Given the description of an element on the screen output the (x, y) to click on. 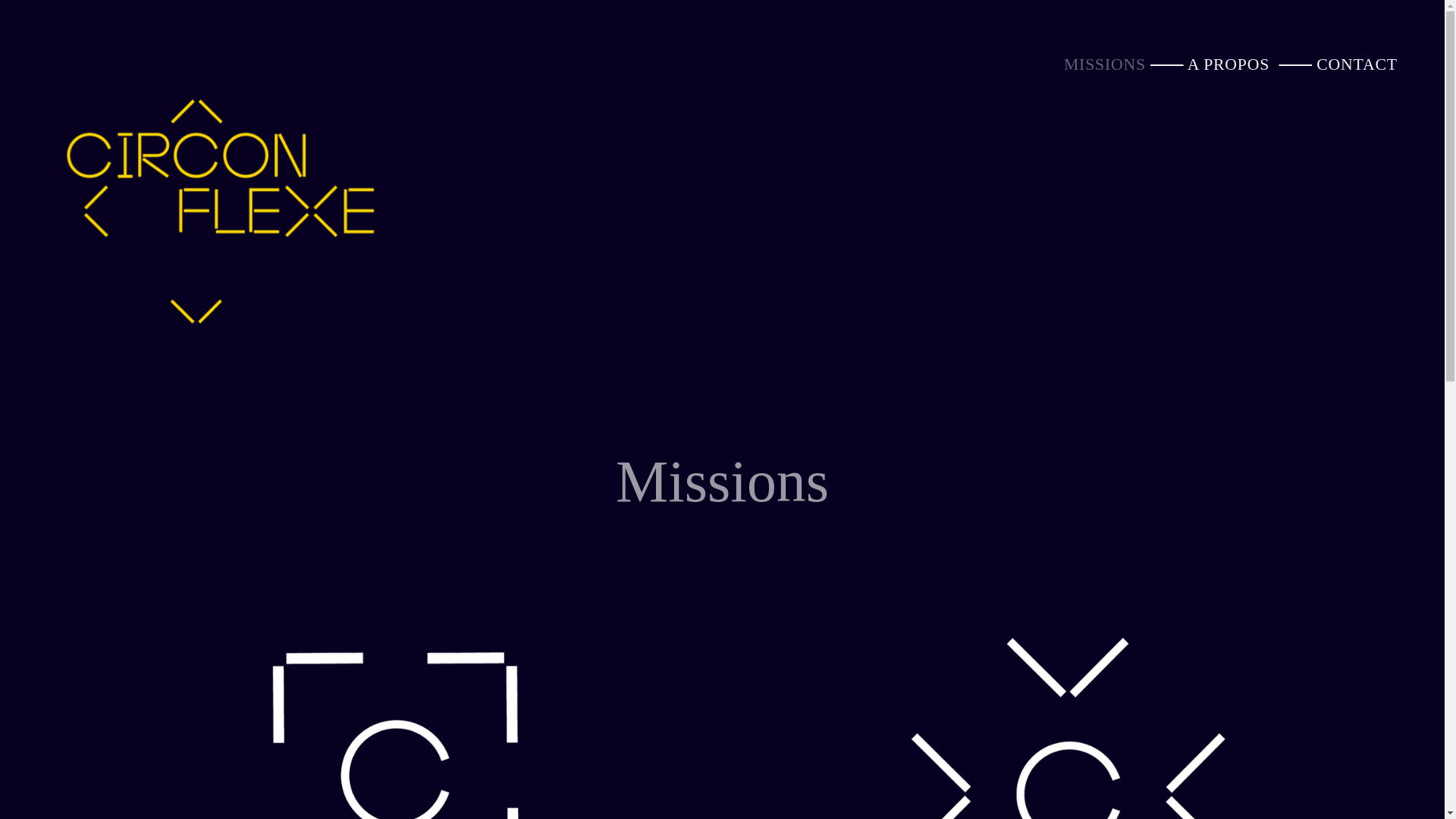
MISSIONS Element type: text (1104, 64)
CONTACT Element type: text (1356, 64)
A PROPOS Element type: text (1230, 64)
